Given the description of an element on the screen output the (x, y) to click on. 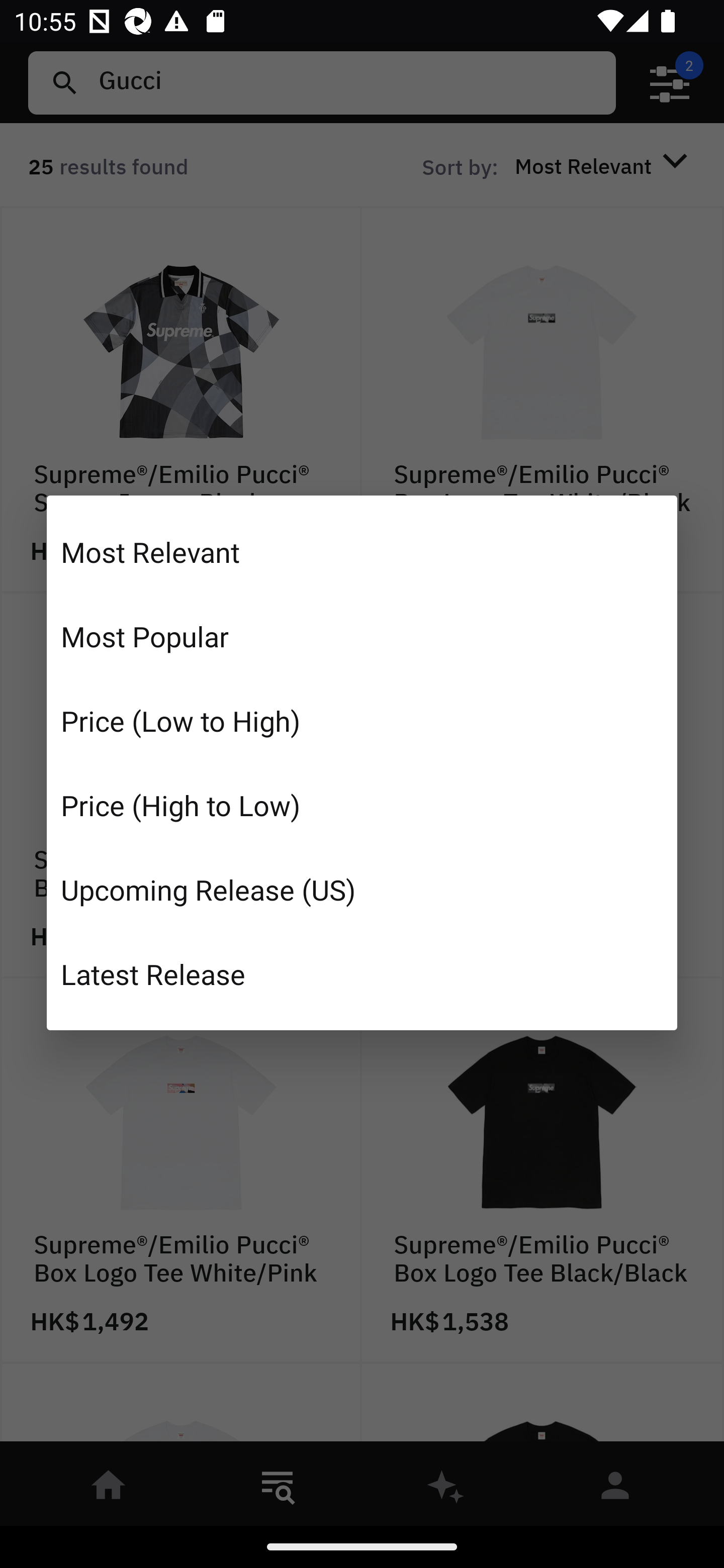
Most Relevant (361, 551)
Most Popular (361, 636)
Price (Low to High) (361, 720)
Price (High to Low) (361, 804)
Upcoming Release (US) (361, 888)
Latest Release (361, 973)
